Given the description of an element on the screen output the (x, y) to click on. 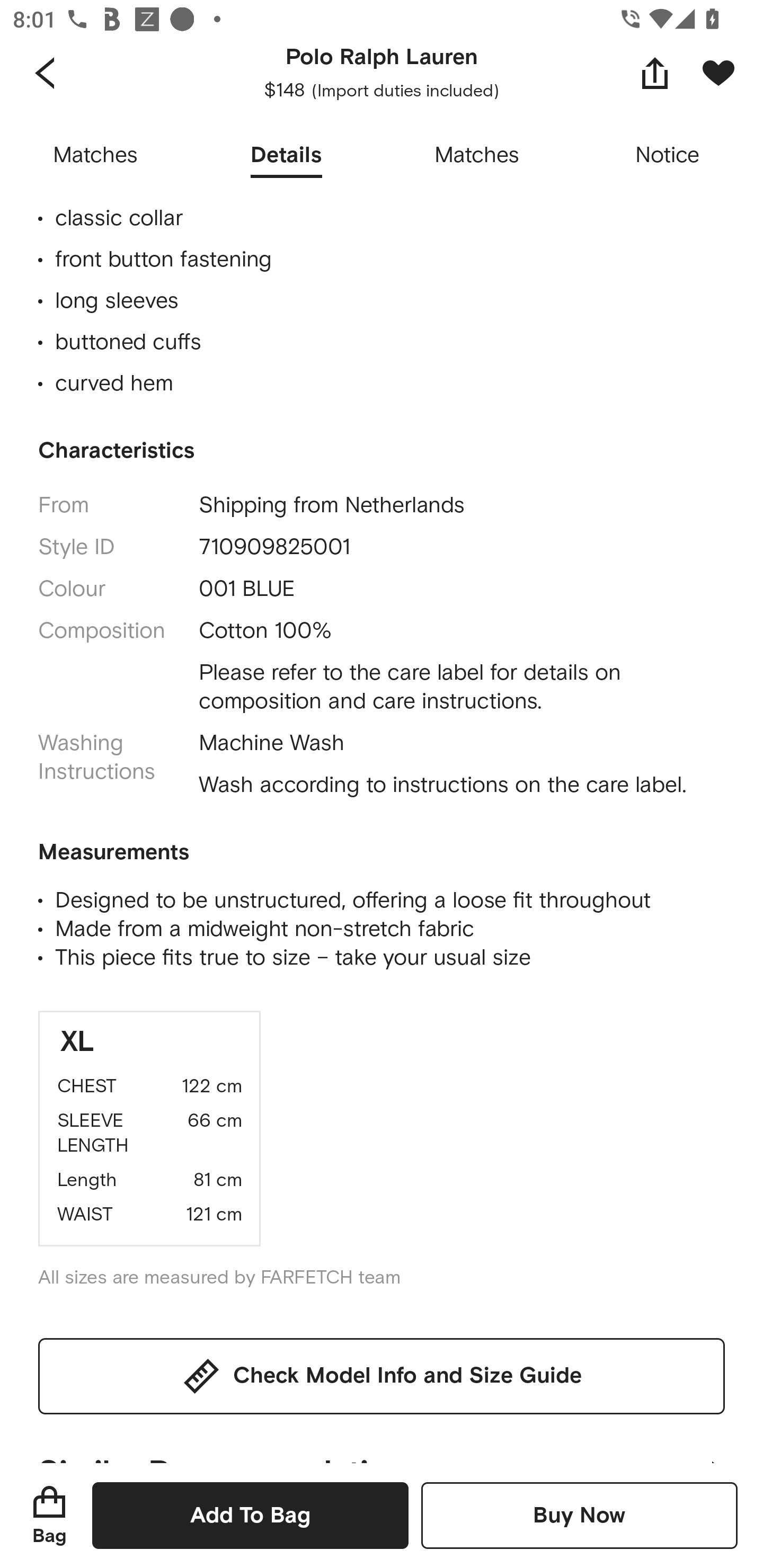
Matches (95, 155)
Matches (476, 155)
Notice (667, 155)
 Check Model Info and Size Guide (381, 1375)
Bag (49, 1515)
Add To Bag (250, 1515)
Buy Now (579, 1515)
